Given the description of an element on the screen output the (x, y) to click on. 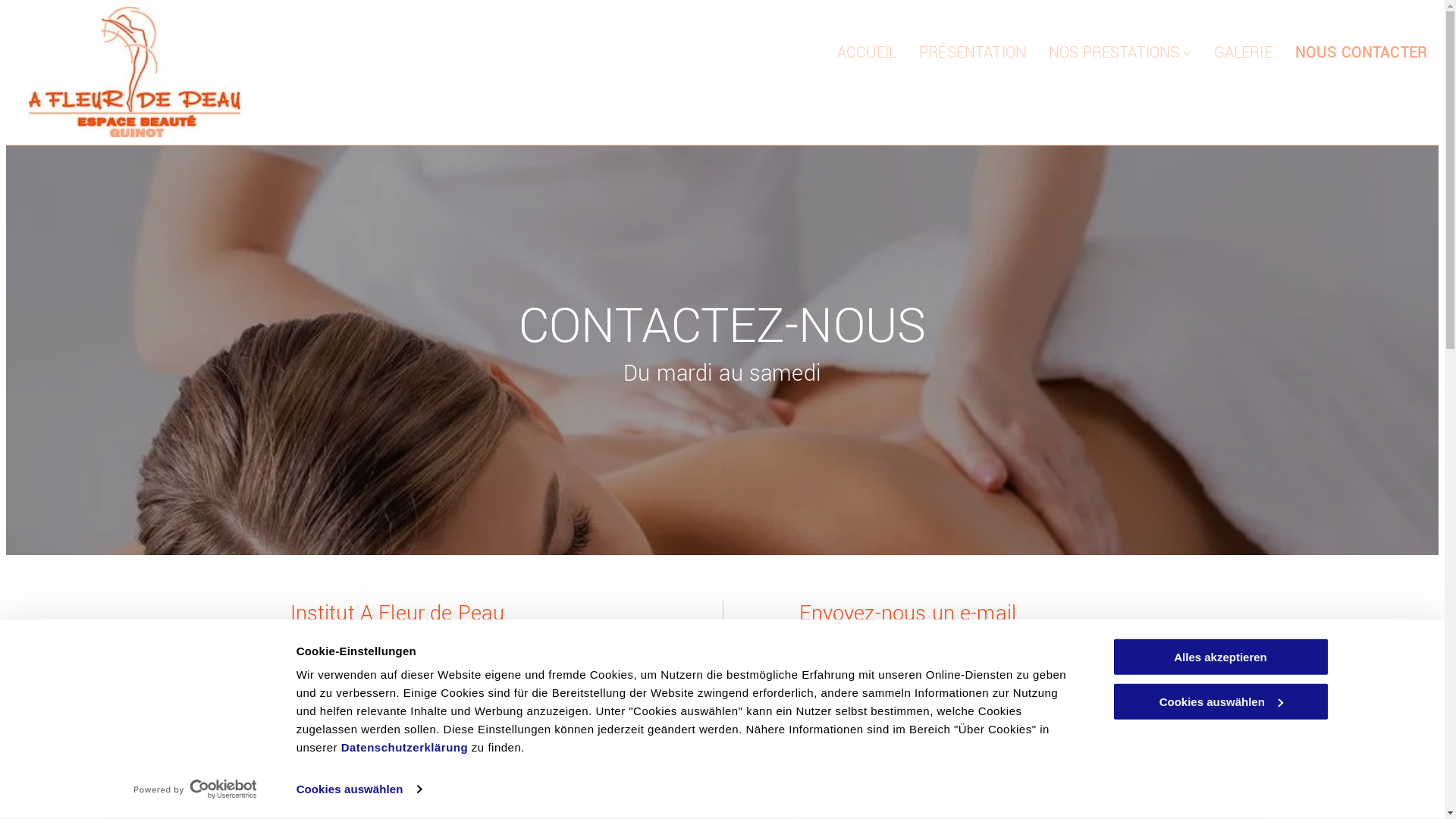
NOS PRESTATIONS Element type: text (1119, 52)
ACCUEIL Element type: text (866, 52)
Alles akzeptieren Element type: text (1219, 656)
+41 79 611 28 86 Element type: text (400, 719)
NOUS CONTACTER Element type: text (1361, 52)
afleurdepeau@verbier.ch Element type: text (399, 740)
GALERIE Element type: text (1243, 52)
